Given the description of an element on the screen output the (x, y) to click on. 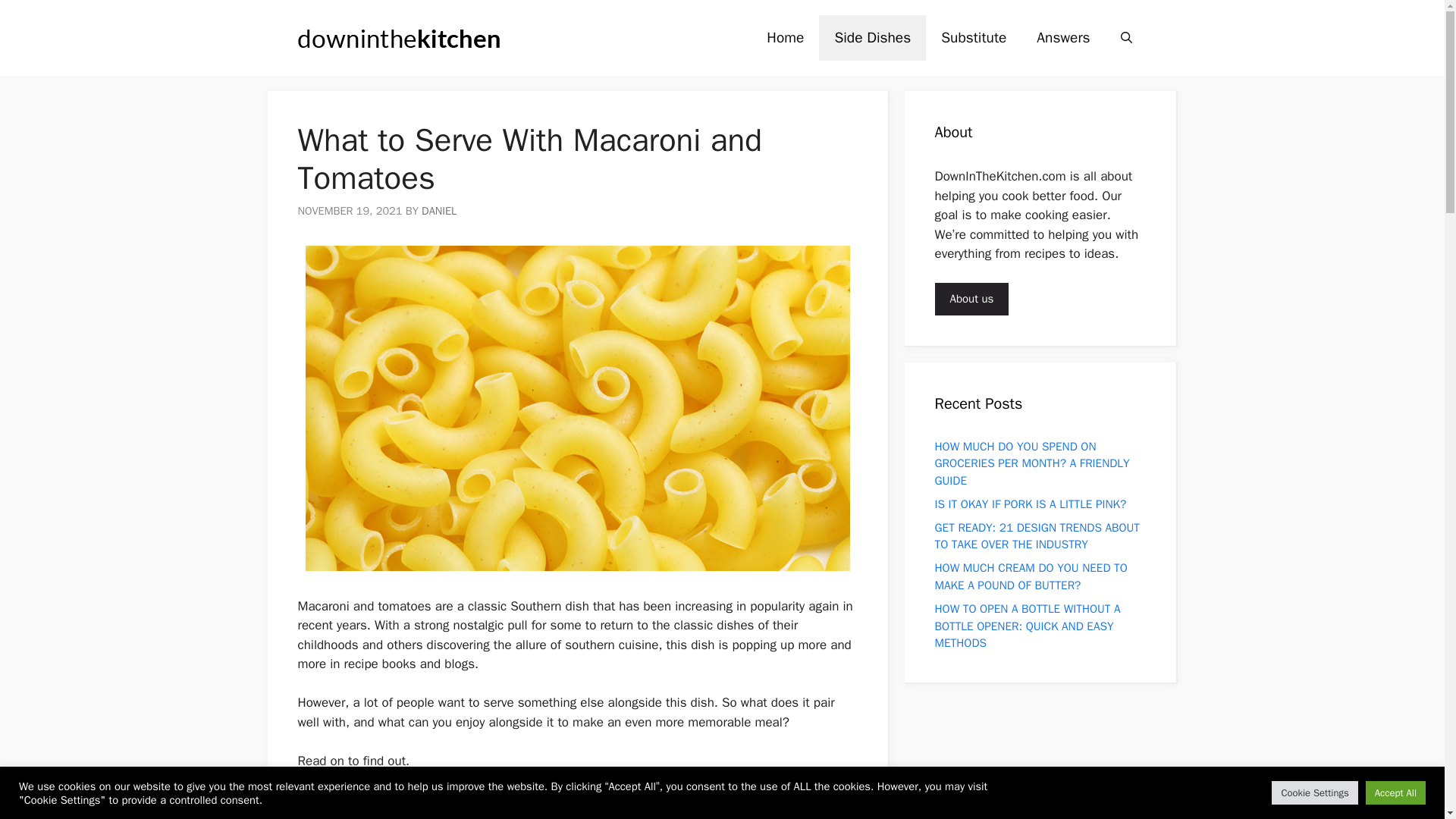
About us (971, 298)
Side Dishes (872, 37)
Homepage (784, 37)
Side Dishes (872, 37)
Home (784, 37)
Answers (1063, 37)
Accept All (1395, 792)
Substitute (974, 37)
Answers (1063, 37)
GET READY: 21 DESIGN TRENDS ABOUT TO TAKE OVER THE INDUSTRY (1037, 536)
Substitutes (974, 37)
View all posts by Daniel (439, 210)
Cookie Settings (1313, 792)
HOW MUCH CREAM DO YOU NEED TO MAKE A POUND OF BUTTER? (1030, 576)
